Given the description of an element on the screen output the (x, y) to click on. 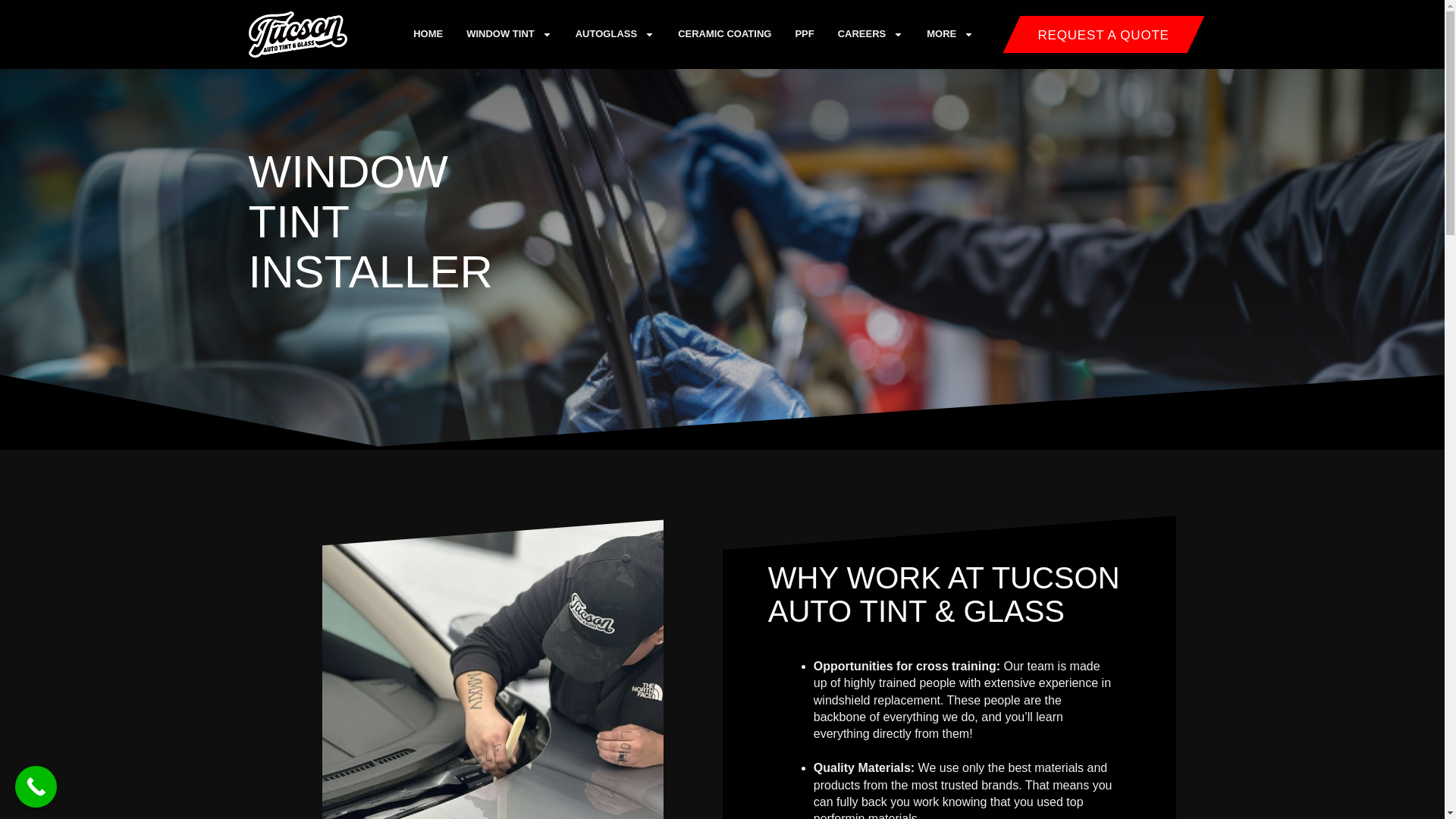
HOME (427, 33)
MORE (950, 33)
PPF (803, 33)
CAREERS (871, 33)
WINDOW TINT (508, 33)
AUTOGLASS (614, 33)
CERAMIC COATING (724, 33)
